Given the description of an element on the screen output the (x, y) to click on. 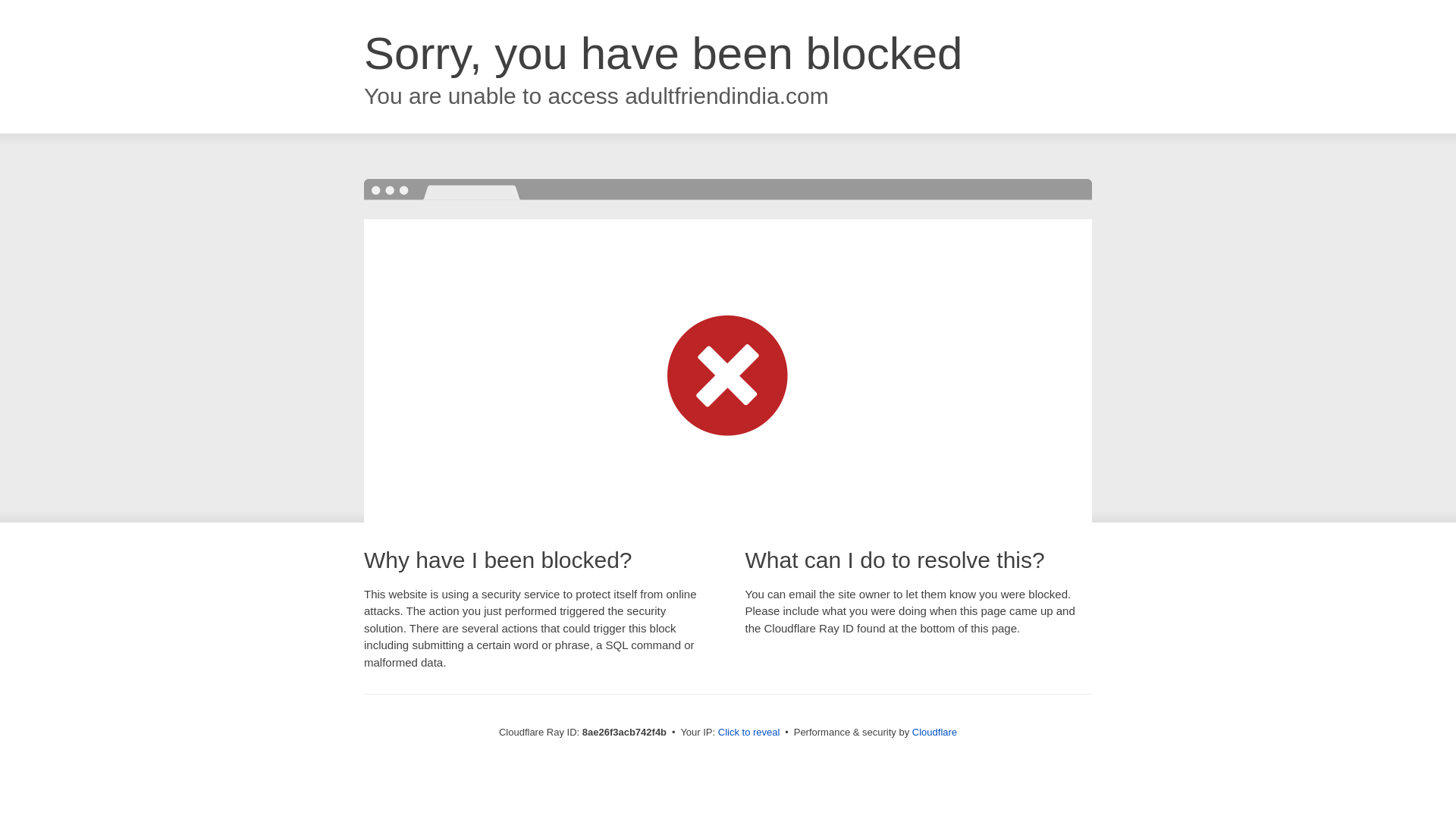
Click to reveal (748, 732)
Cloudflare (934, 731)
